Given the description of an element on the screen output the (x, y) to click on. 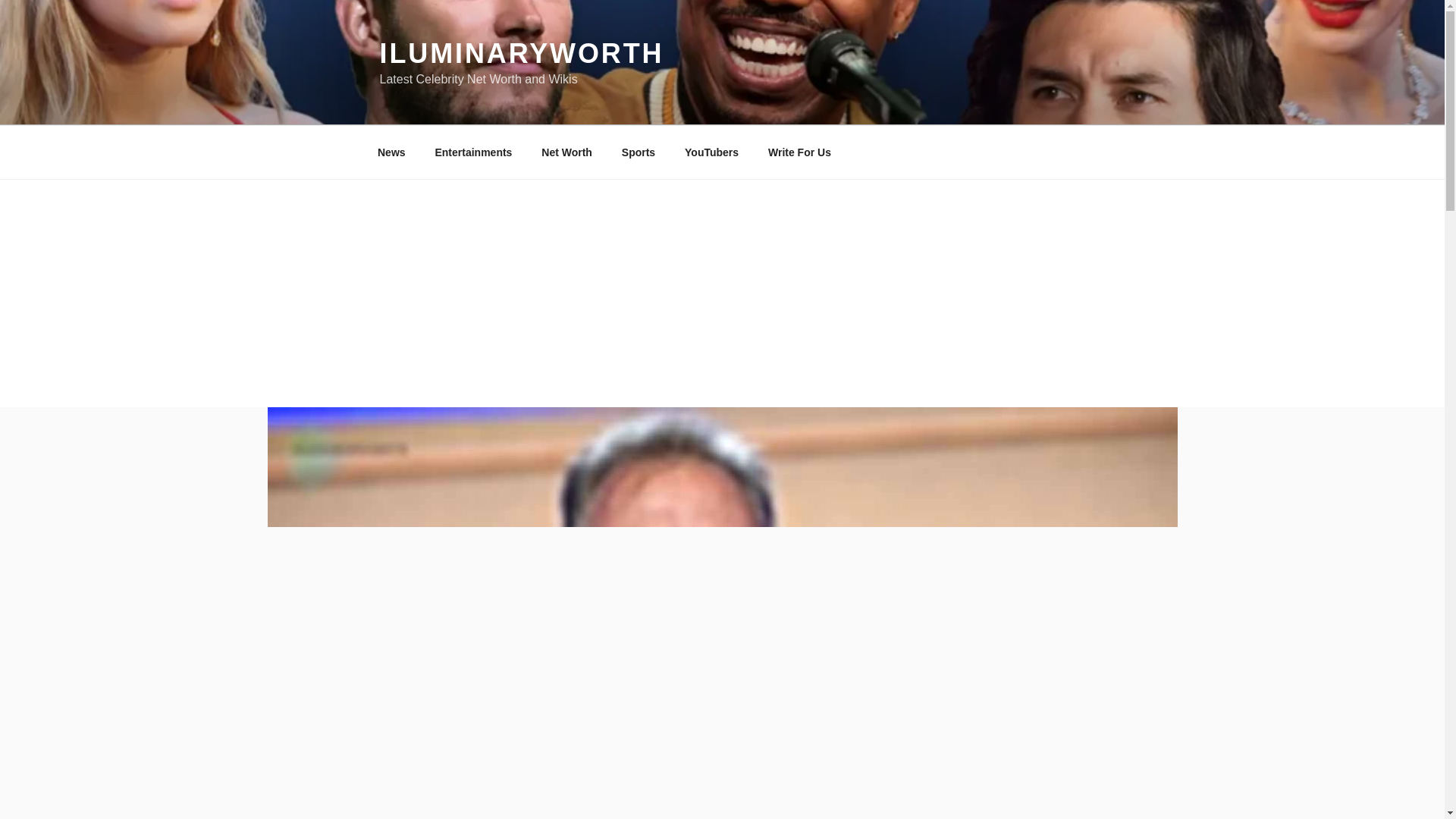
Net Worth (566, 151)
Sports (638, 151)
YouTubers (711, 151)
Write For Us (799, 151)
ILUMINARYWORTH (520, 52)
Entertainments (473, 151)
News (391, 151)
